Given the description of an element on the screen output the (x, y) to click on. 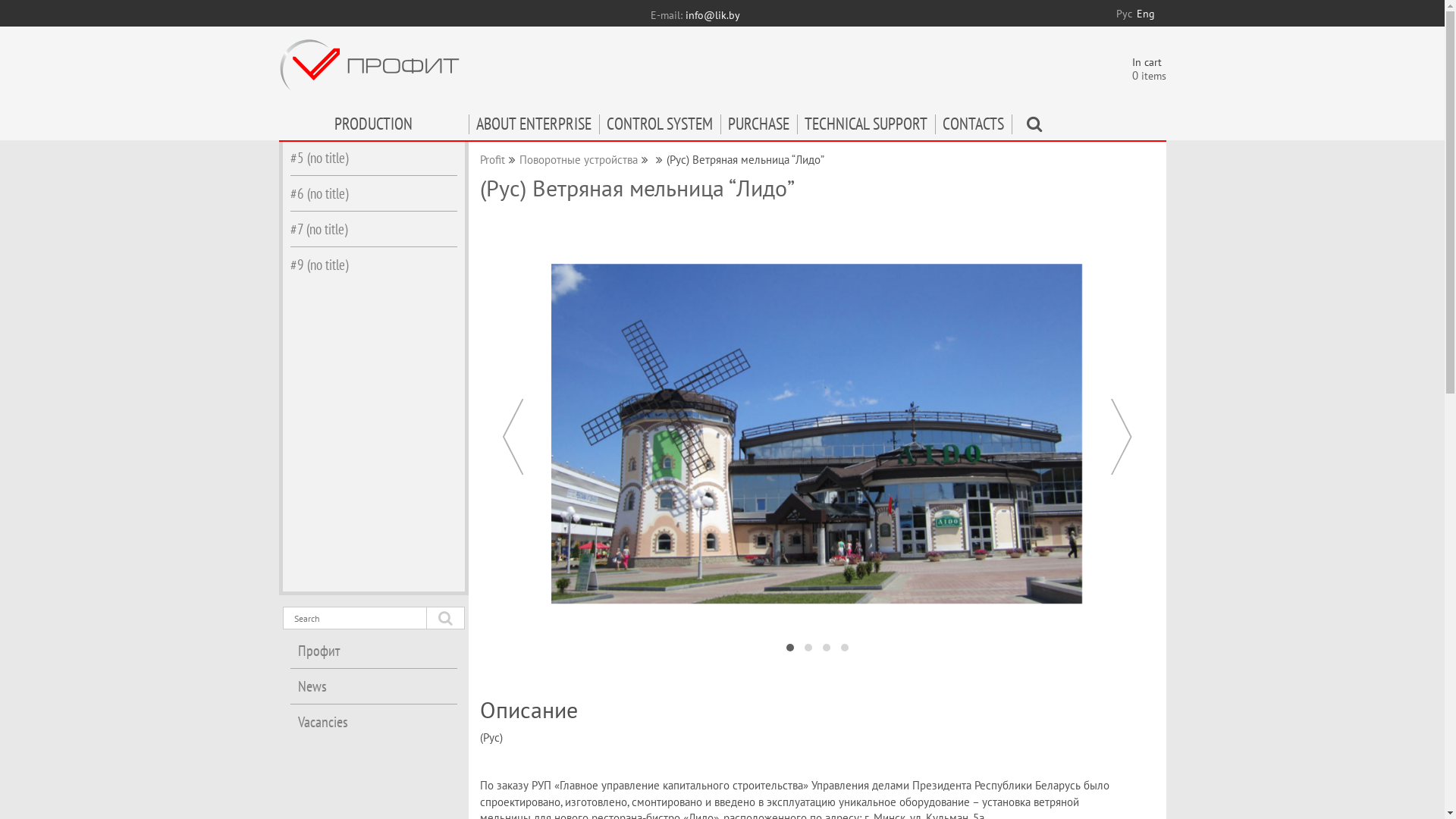
#6 (no title) Element type: text (372, 192)
PRODUCTION Element type: text (373, 127)
ABOUT ENTERPRISE Element type: text (533, 127)
#5 (no title) Element type: text (372, 157)
#9 (no title) Element type: text (372, 264)
Vacancies Element type: text (372, 721)
TECHNICAL SUPPORT Element type: text (865, 127)
News Element type: text (372, 685)
CONTROL SYSTEM Element type: text (659, 127)
Eng Element type: text (1144, 13)
PURCHASE Element type: text (758, 127)
CONTACTS Element type: text (972, 127)
Profit Element type: text (491, 159)
#7 (no title) Element type: text (372, 228)
